Given the description of an element on the screen output the (x, y) to click on. 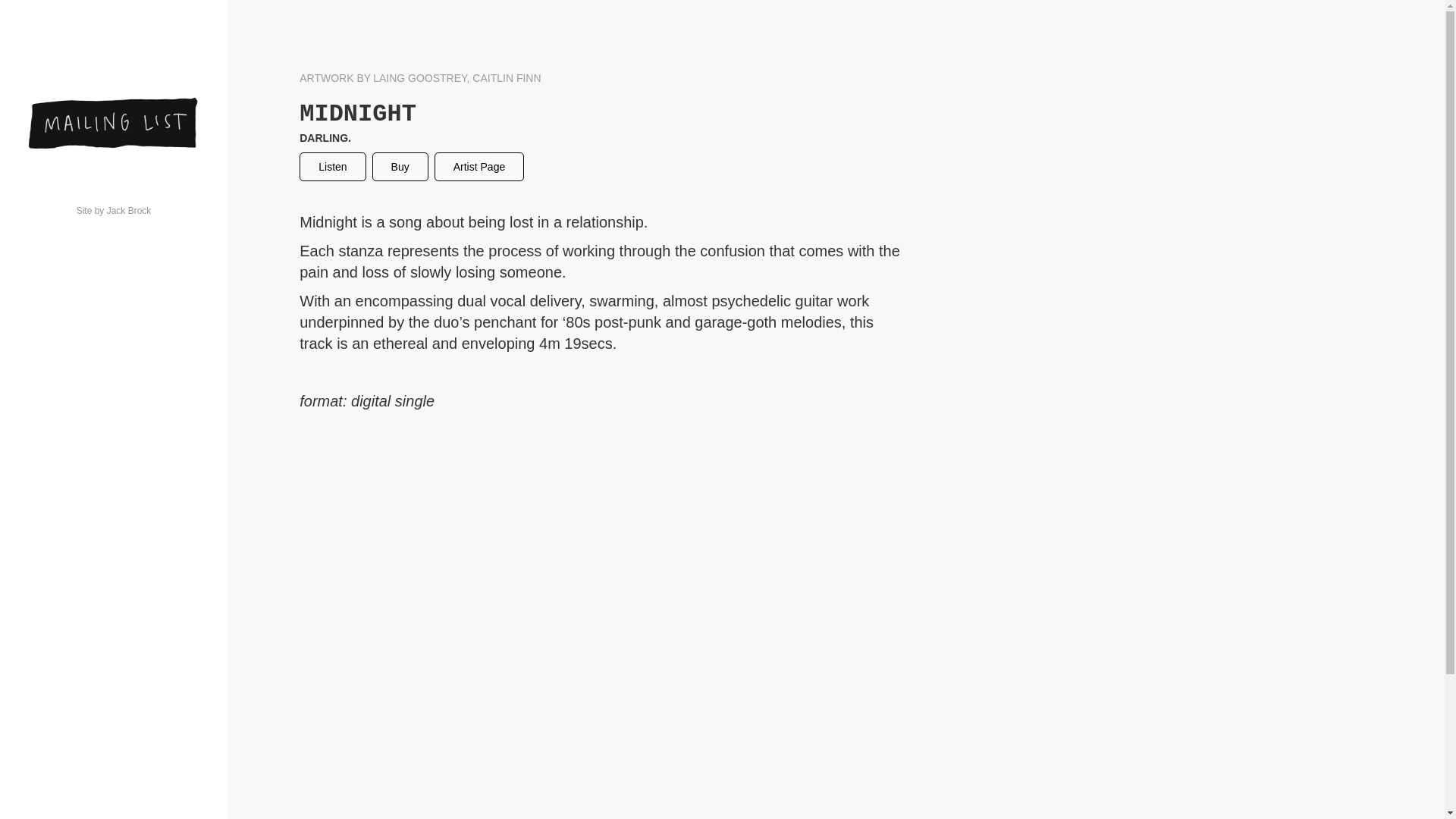
Artist Page Element type: text (479, 166)
Site by Jack Brock Element type: text (113, 210)
Listen Element type: text (332, 166)
Buy Element type: text (400, 166)
